Given the description of an element on the screen output the (x, y) to click on. 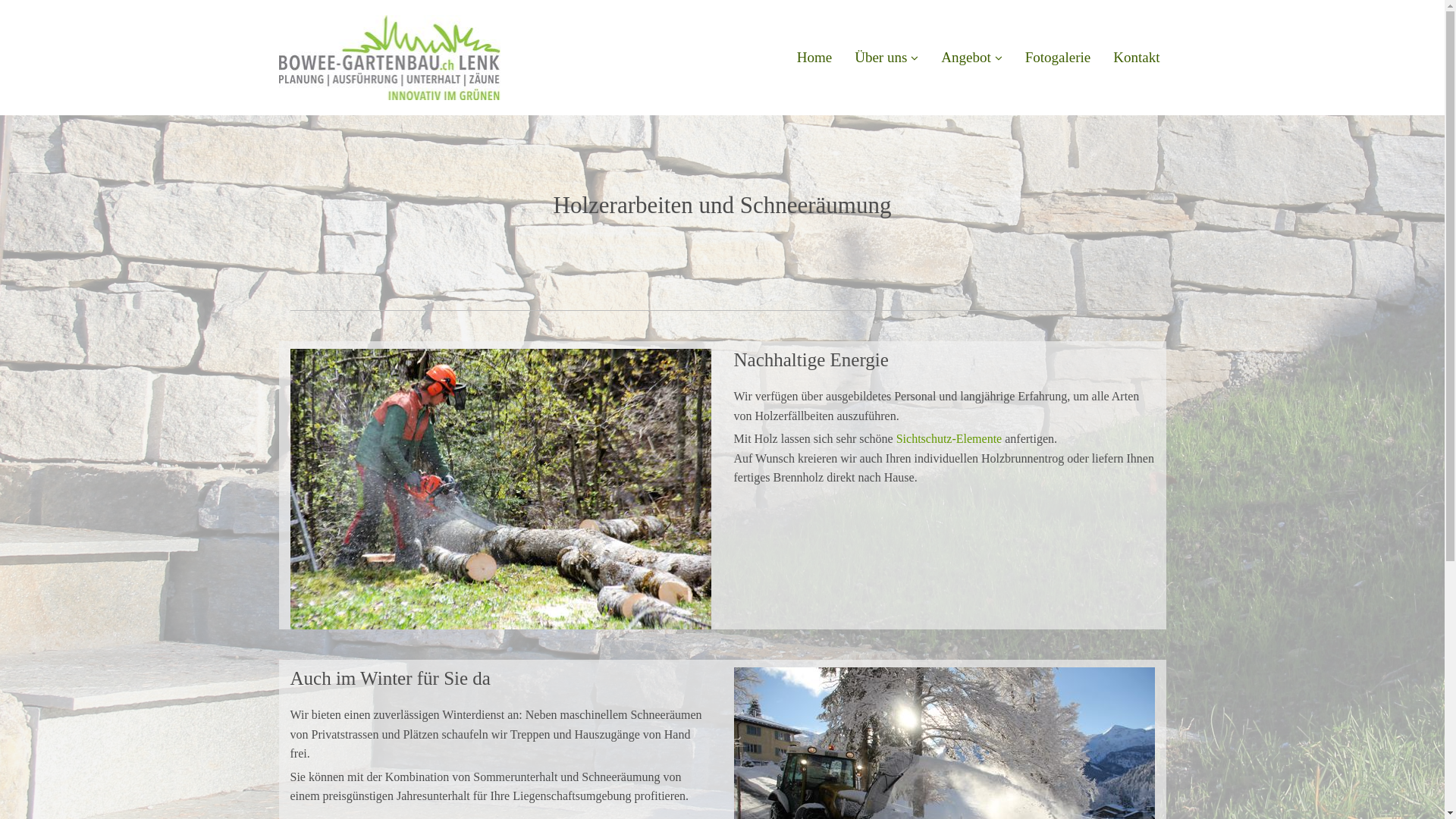
Fotogalerie Element type: text (1058, 57)
Angebot Element type: text (971, 57)
Sichtschutz-Elemente Element type: text (949, 438)
Kontakt Element type: text (1136, 57)
Home Element type: text (814, 57)
